Given the description of an element on the screen output the (x, y) to click on. 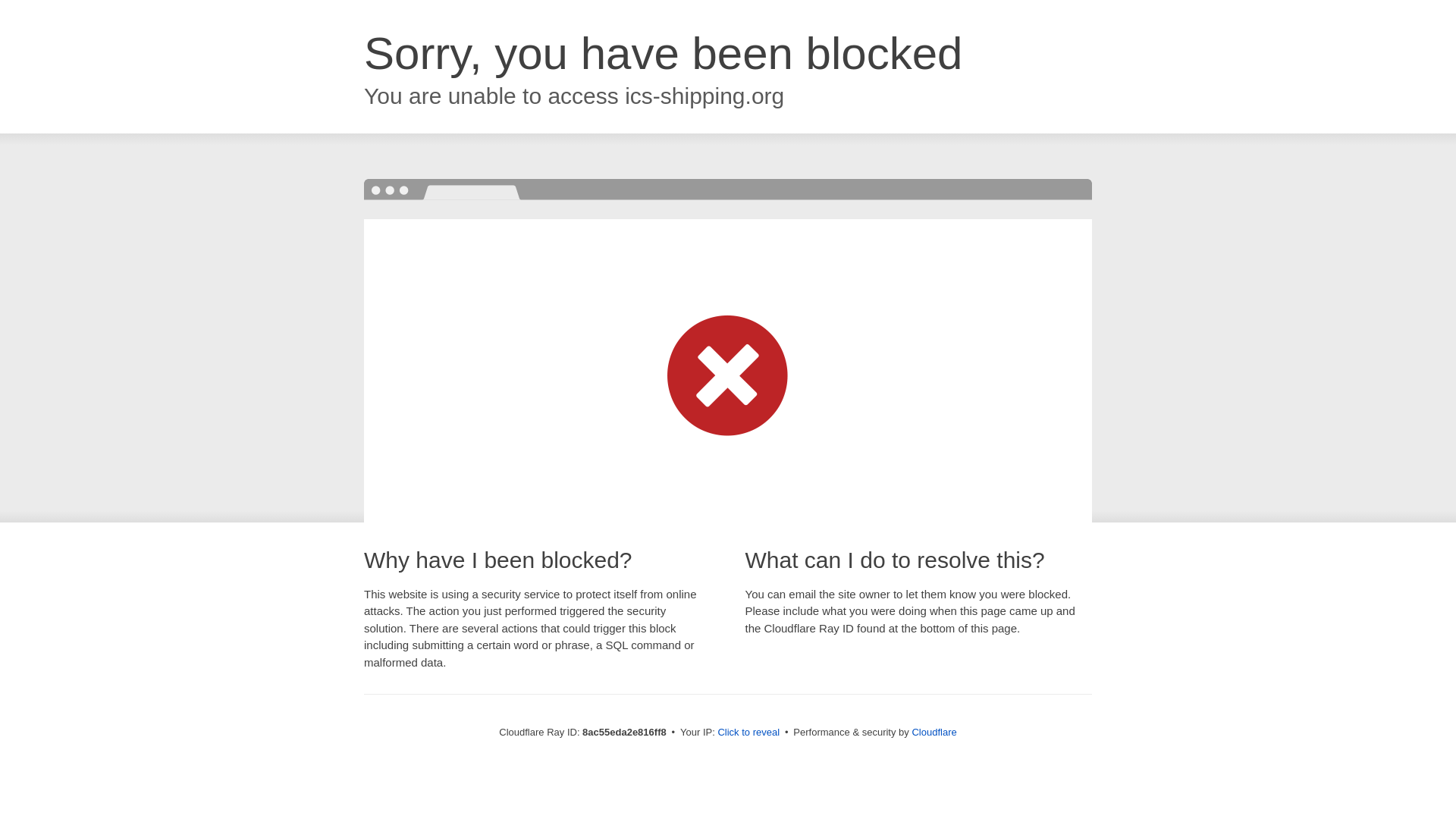
Click to reveal (747, 732)
Cloudflare (933, 731)
